Given the description of an element on the screen output the (x, y) to click on. 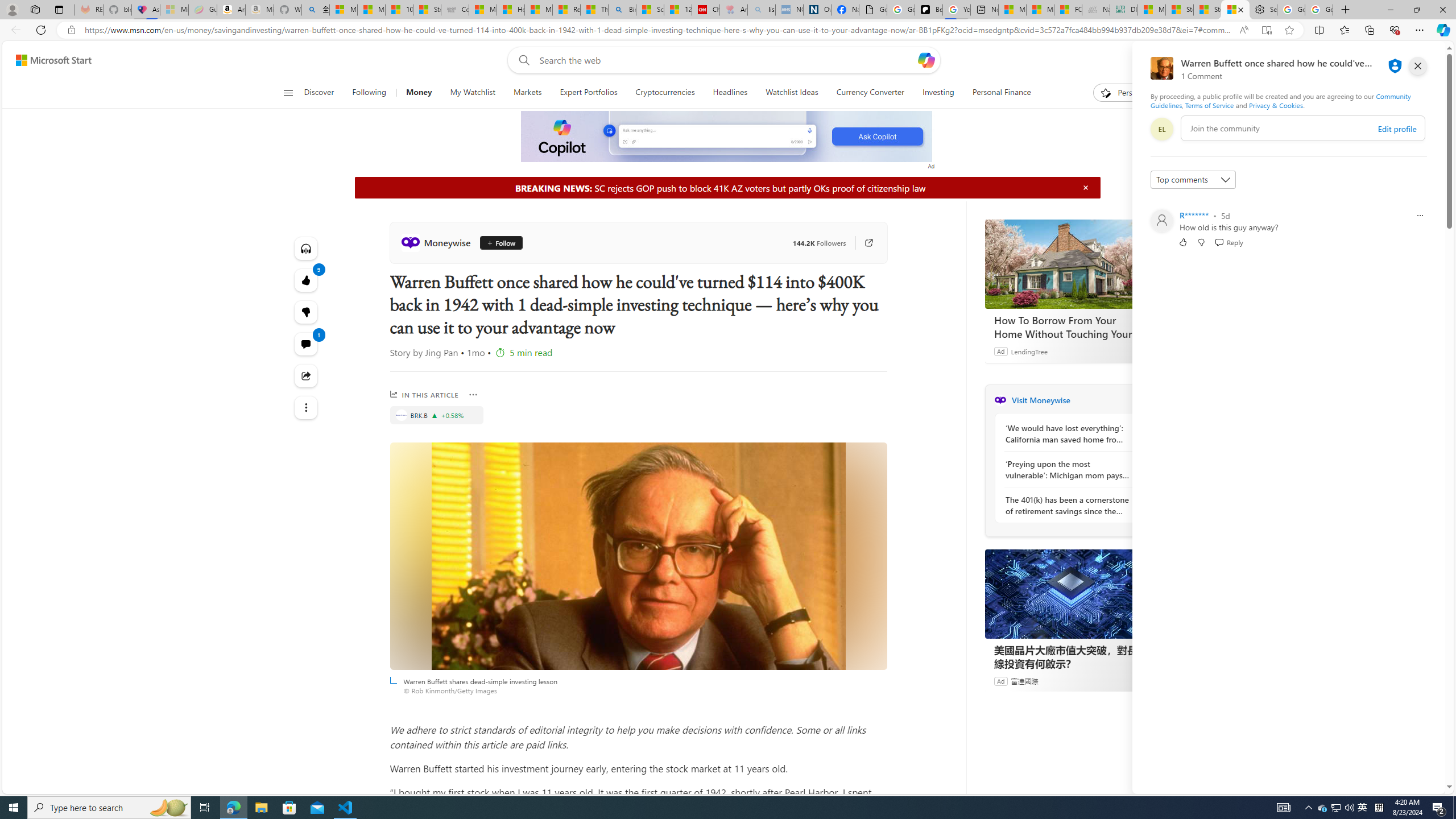
Go to publisher's site (863, 242)
Privacy & Cookies (1276, 104)
Headlines (730, 92)
Open navigation menu (287, 92)
More Options (473, 394)
9 Like (305, 279)
Watchlist Ideas (792, 92)
Cryptocurrencies (665, 92)
Money (419, 92)
BERKSHIRE HATHAWAY INC. (400, 414)
